Given the description of an element on the screen output the (x, y) to click on. 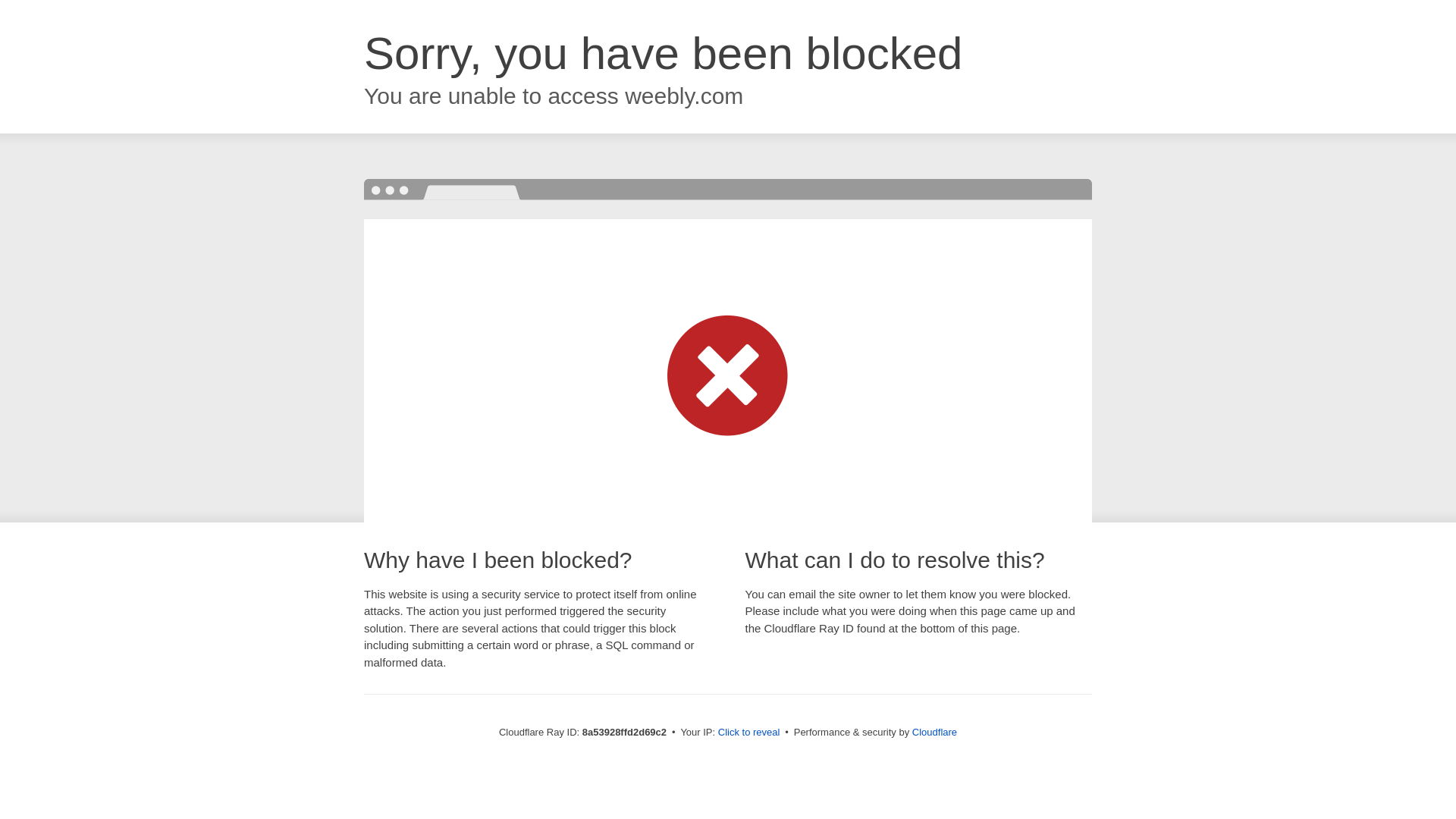
Cloudflare (934, 731)
Click to reveal (748, 732)
